Given the description of an element on the screen output the (x, y) to click on. 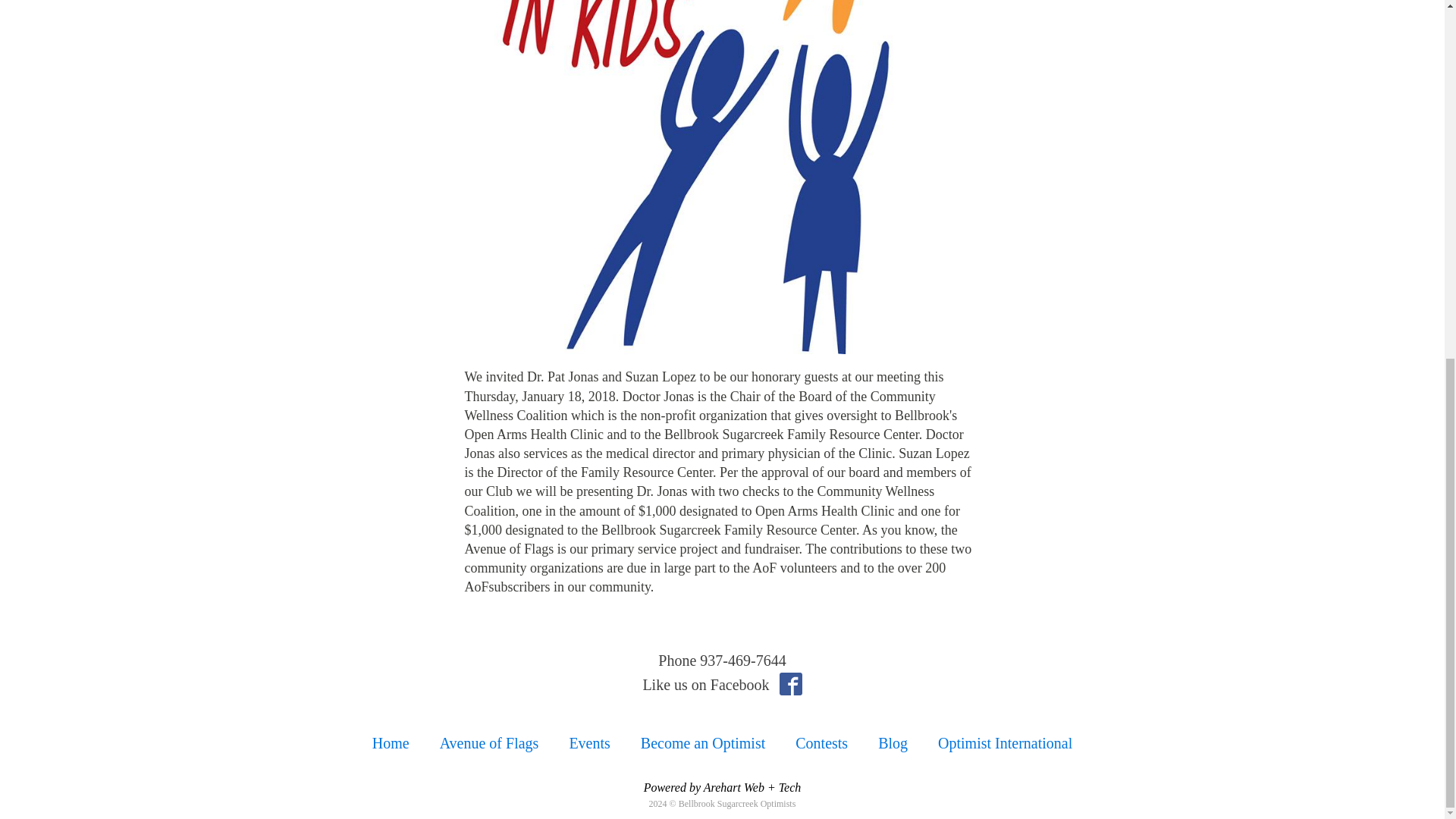
Events (588, 742)
Optimist International (1005, 742)
Home (390, 742)
Contests (821, 742)
Become an Optimist (703, 742)
Blog (893, 742)
Avenue of Flags (489, 742)
